Given the description of an element on the screen output the (x, y) to click on. 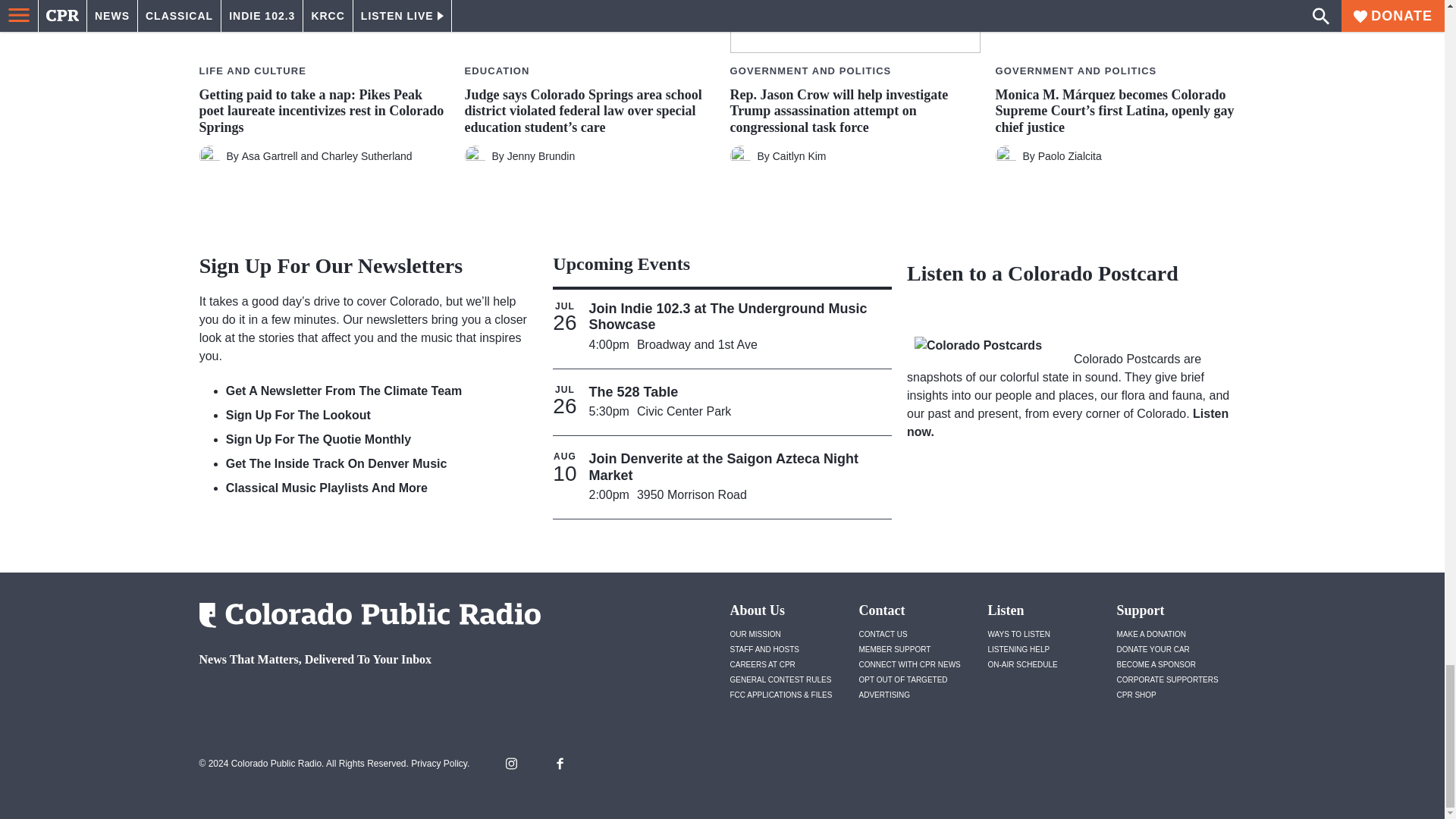
footer (364, 699)
